Given the description of an element on the screen output the (x, y) to click on. 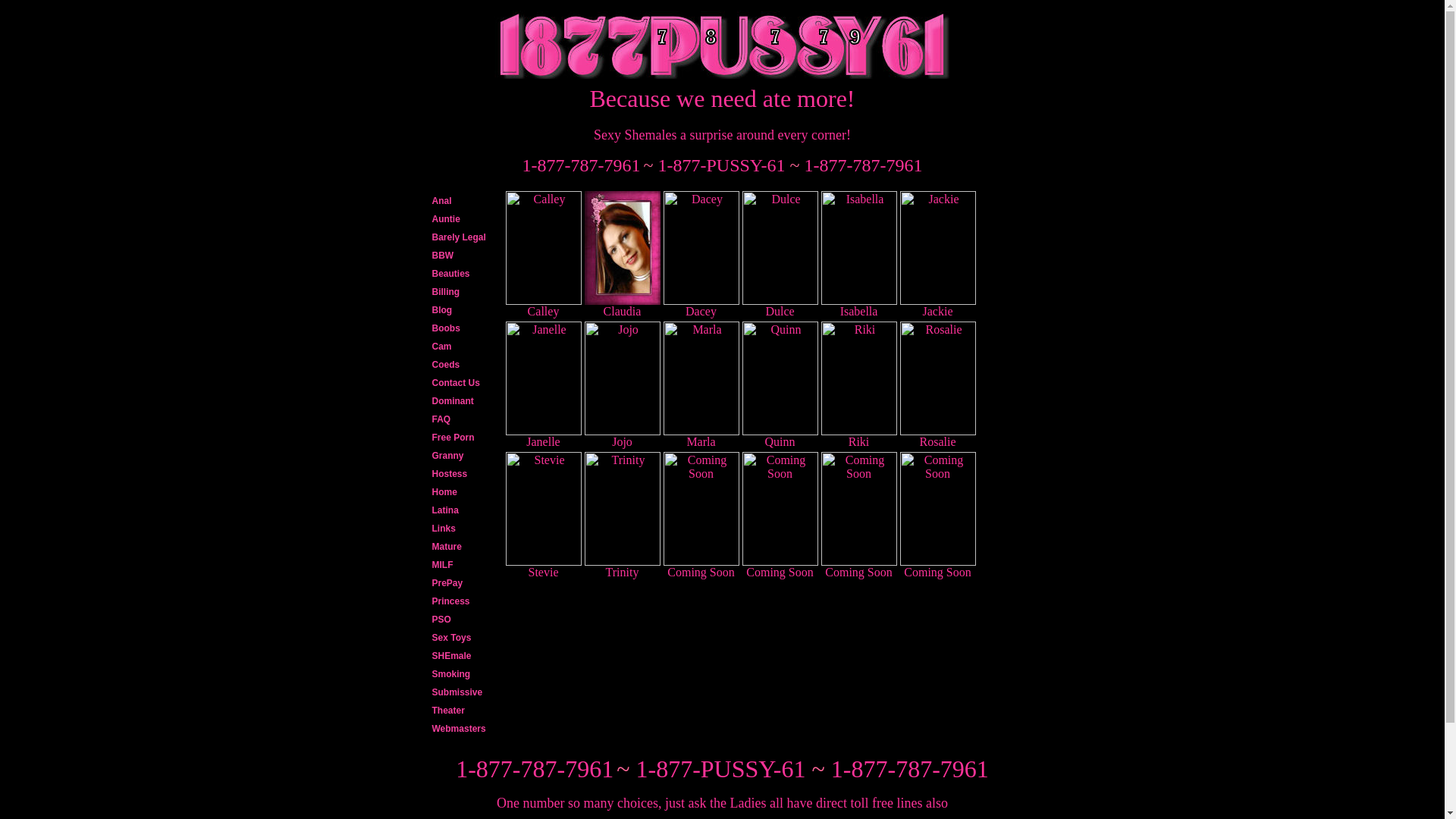
Auntie Element type: text (462, 219)
Theater Element type: text (462, 710)
Billing Element type: text (462, 291)
Granny Element type: text (462, 455)
Mature Element type: text (462, 546)
Anal Element type: text (462, 200)
Latina Element type: text (462, 510)
Sex Toys Element type: text (462, 637)
Submissive Element type: text (462, 692)
Smoking Element type: text (462, 674)
SHEmale Element type: text (462, 655)
Cam Element type: text (462, 346)
Hostess Element type: text (462, 473)
PSO Element type: text (462, 619)
Webmasters Element type: text (462, 728)
Home Element type: text (462, 492)
Boobs Element type: text (462, 328)
BBW Element type: text (462, 255)
FAQ Element type: text (462, 419)
Coeds Element type: text (462, 364)
Free Porn Element type: text (462, 437)
Contact Us Element type: text (462, 382)
PrePay Element type: text (462, 583)
Barely Legal Element type: text (462, 237)
Blog Element type: text (462, 310)
Beauties Element type: text (462, 273)
Princess Element type: text (462, 601)
Links Element type: text (462, 528)
MILF Element type: text (462, 564)
Dominant Element type: text (462, 401)
